Given the description of an element on the screen output the (x, y) to click on. 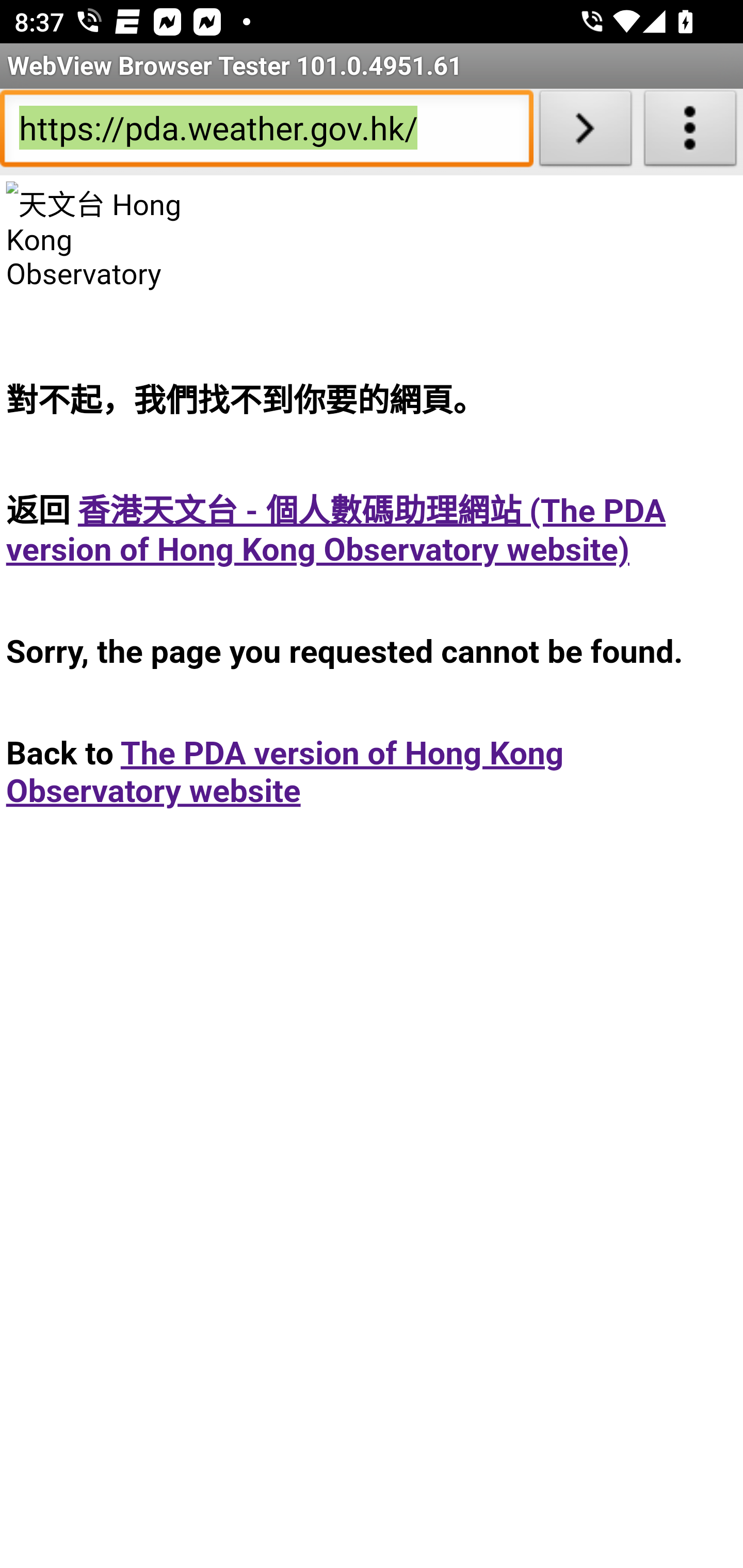
https://pda.weather.gov.hk/ (266, 132)
Load URL (585, 132)
About WebView (690, 132)
The PDA version of Hong Kong Observatory website (284, 771)
